Given the description of an element on the screen output the (x, y) to click on. 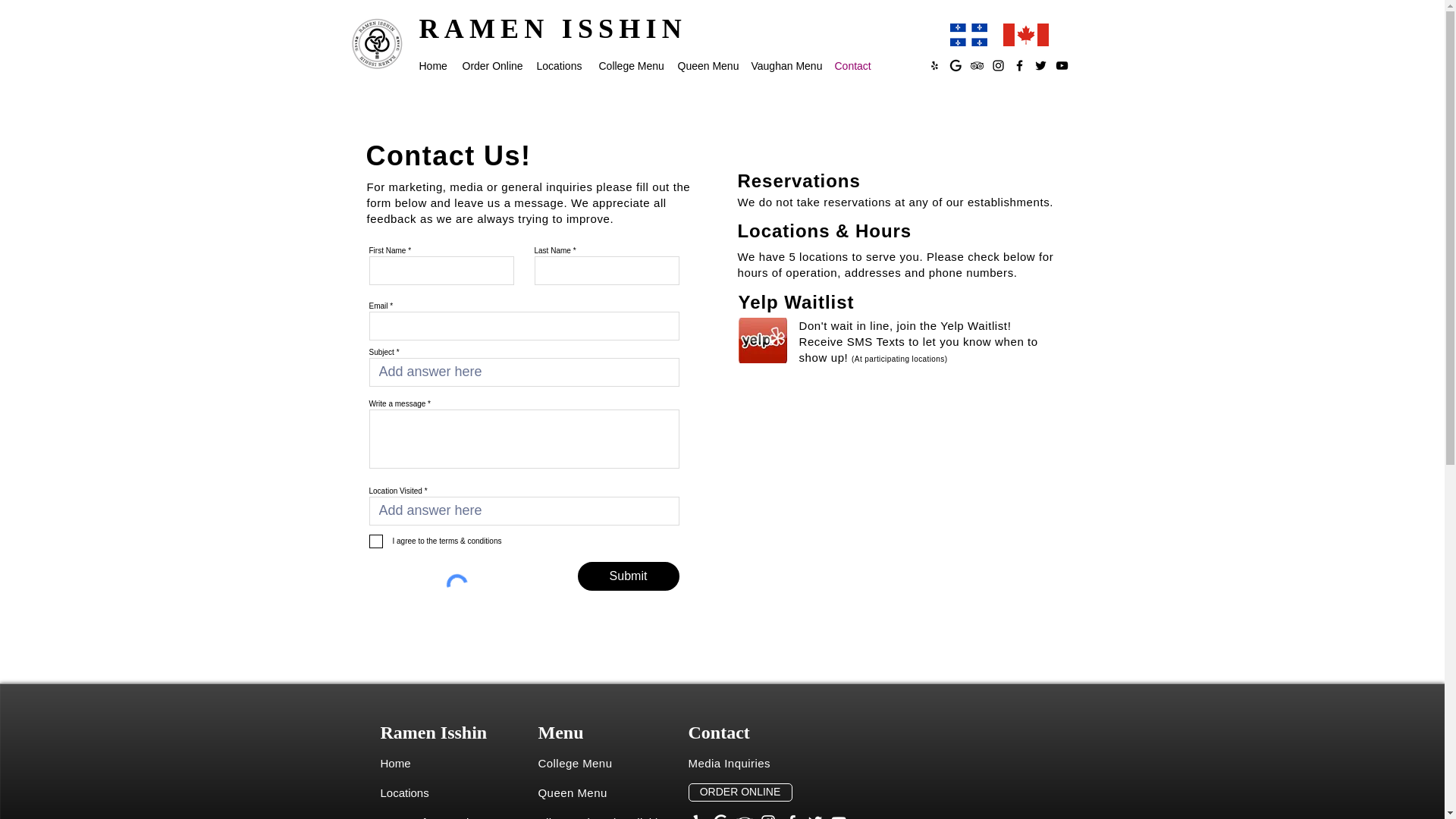
RAMEN ISSHIN FRENCH WEBSITE (968, 34)
Contact (853, 65)
Home (432, 65)
College Menu (630, 65)
Home (395, 762)
Order Online (491, 65)
RAMEN ISSHIN (552, 28)
Ramen Isshin (433, 731)
Submit (628, 575)
Locations (560, 65)
Hours of Operation (431, 817)
Queen Menu (706, 65)
Locations (404, 792)
Vaughan Menu (784, 65)
Reservations (798, 180)
